Given the description of an element on the screen output the (x, y) to click on. 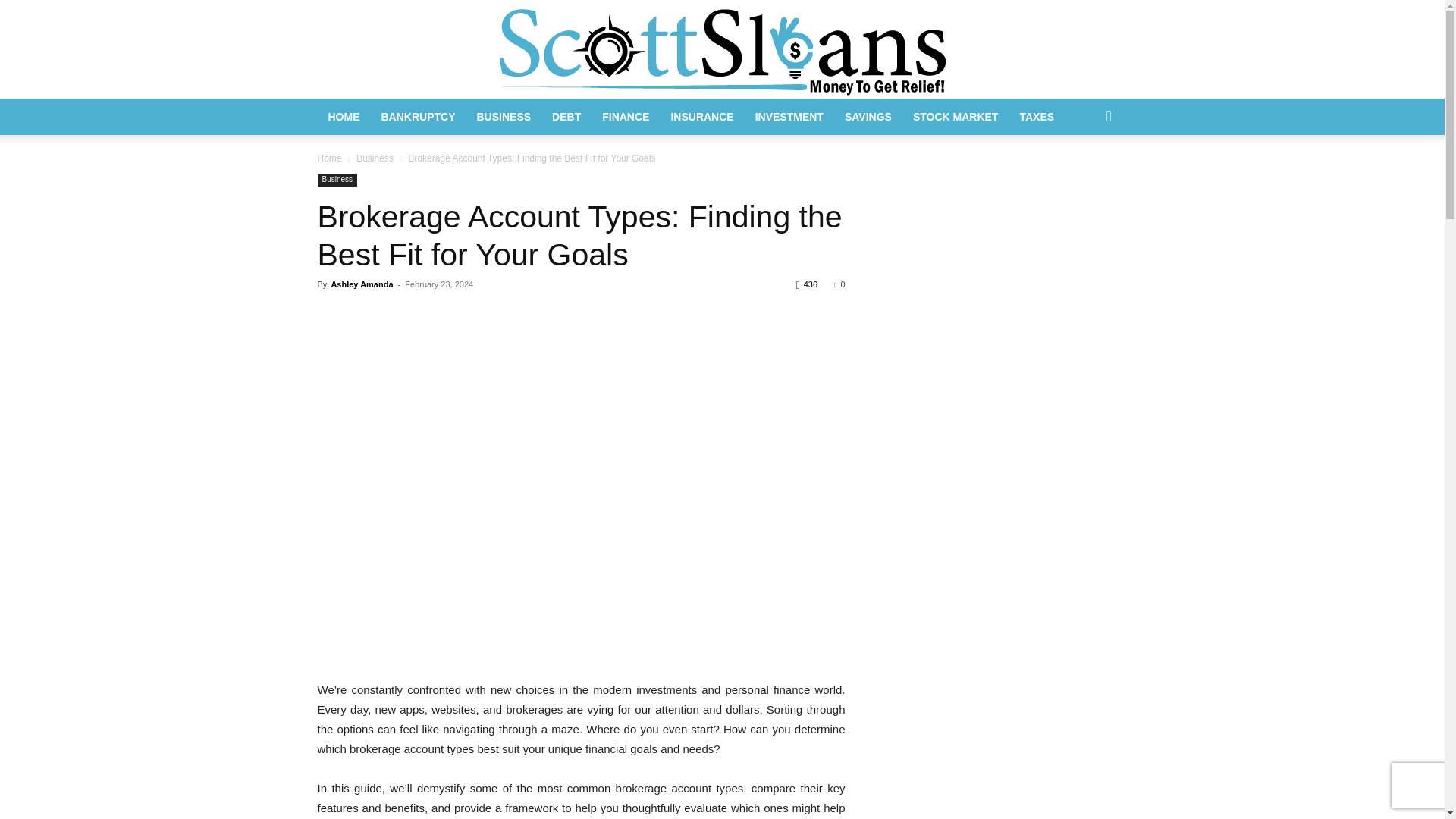
Ashley Amanda (361, 284)
INSURANCE (701, 116)
FINANCE (625, 116)
DEBT (566, 116)
BANKRUPTCY (417, 116)
TAXES (1036, 116)
Business (336, 179)
HOME (343, 116)
View all posts in Business (374, 158)
Search (1085, 177)
